Given the description of an element on the screen output the (x, y) to click on. 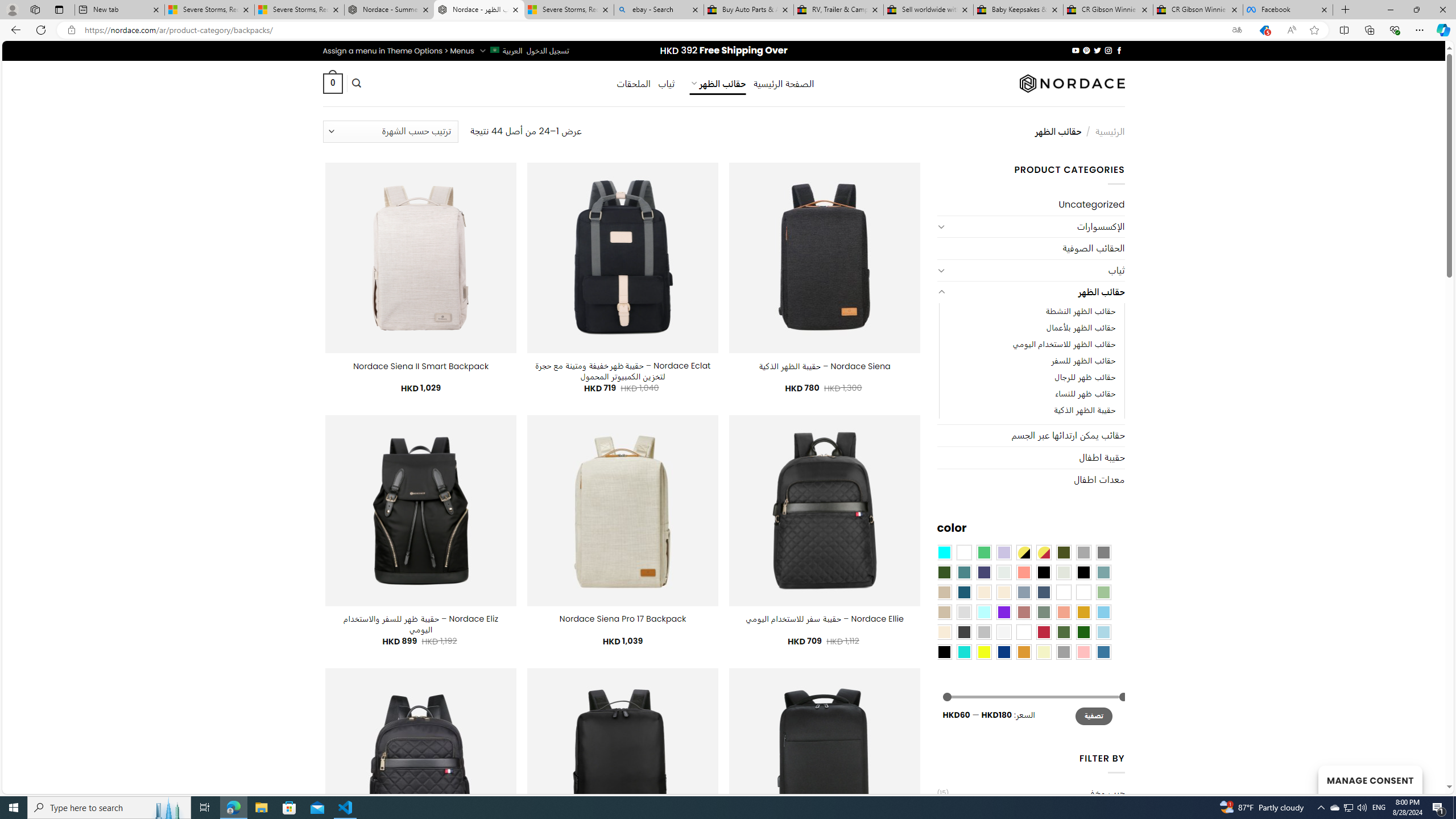
Ash Gray (1063, 572)
Light-Gray (963, 611)
Cream (1003, 591)
  0   (332, 83)
Sage (1043, 611)
